Given the description of an element on the screen output the (x, y) to click on. 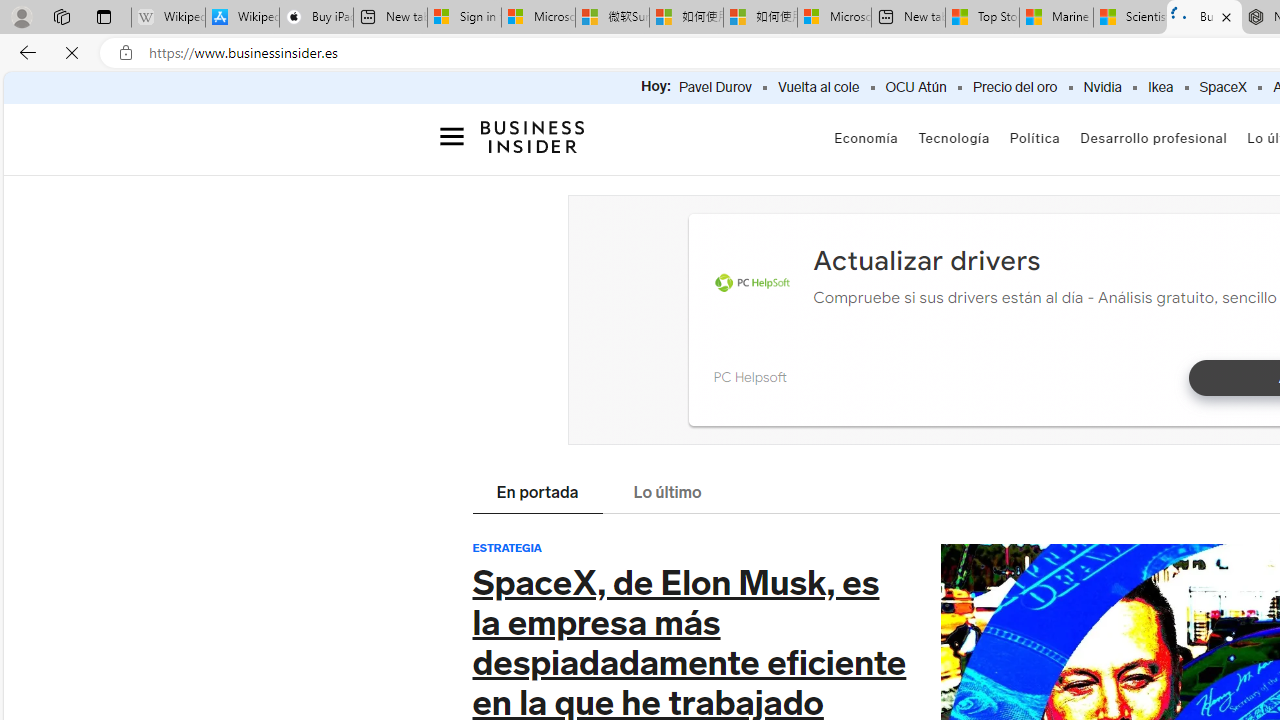
SpaceX (1222, 88)
PC Helpsoft (752, 283)
Vuelta al cole (818, 88)
En portada (537, 494)
Ikea (1160, 88)
Nvidia (1102, 88)
